Given the description of an element on the screen output the (x, y) to click on. 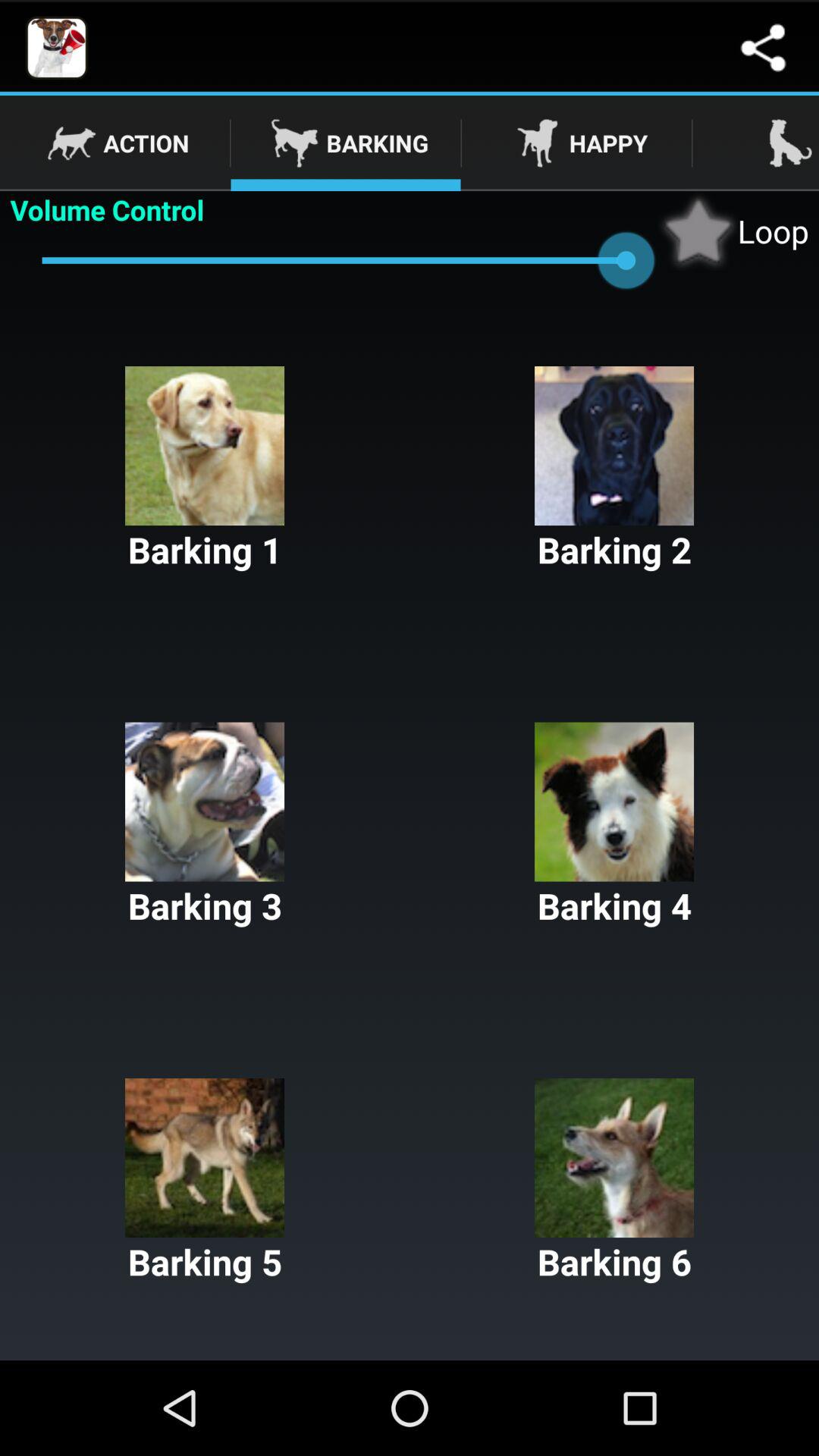
turn on item on the left (204, 825)
